Given the description of an element on the screen output the (x, y) to click on. 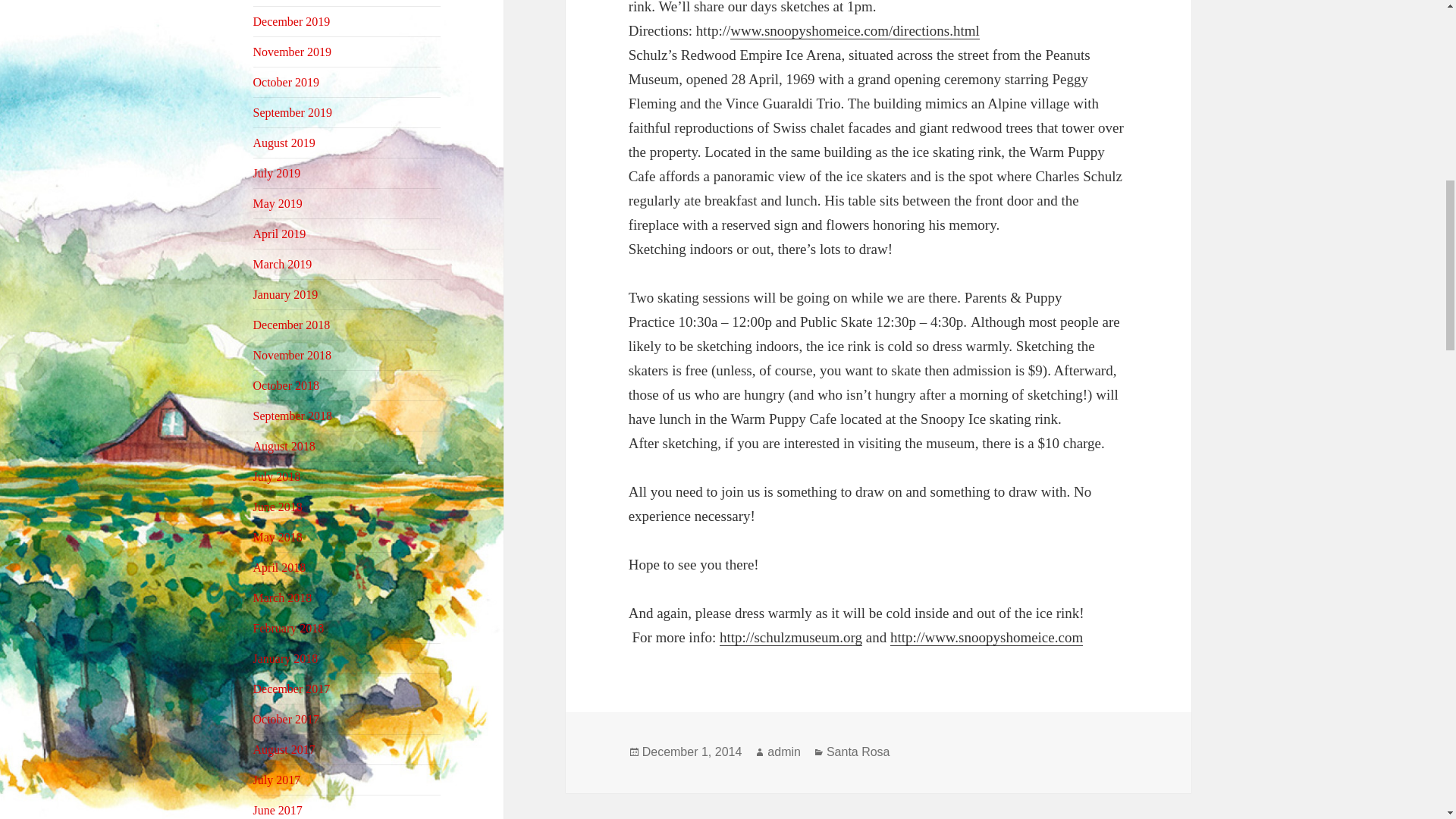
July 2019 (277, 173)
October 2019 (286, 82)
April 2018 (279, 567)
June 2018 (277, 506)
January 2019 (285, 294)
November 2018 (292, 354)
October 2018 (286, 385)
August 2017 (284, 748)
April 2019 (279, 233)
January 2018 (285, 658)
November 2019 (292, 51)
February 2018 (288, 627)
August 2018 (284, 445)
December 2019 (291, 21)
July 2018 (277, 476)
